Given the description of an element on the screen output the (x, y) to click on. 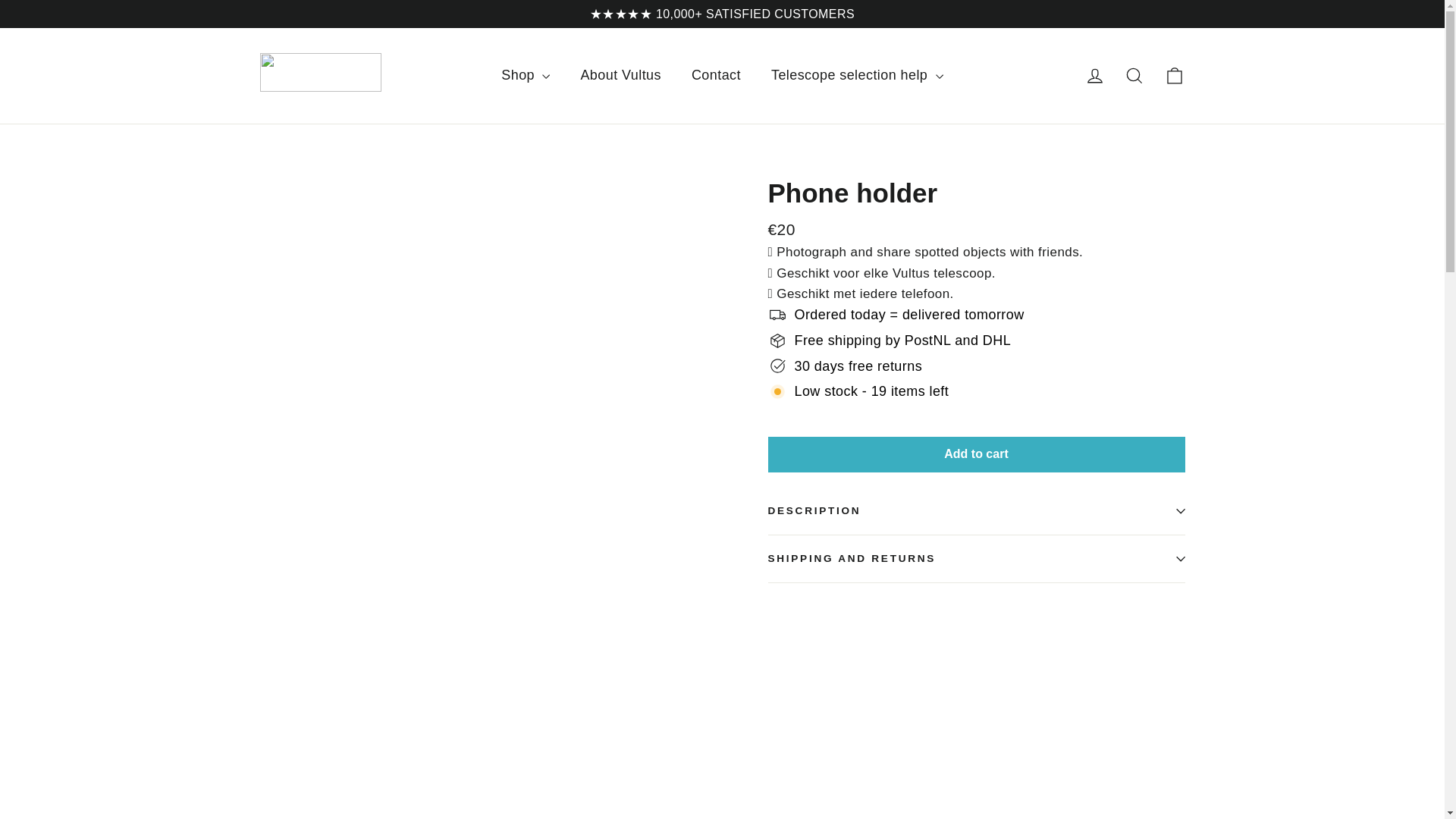
account (1094, 75)
DESCRIPTION (976, 510)
Add to cart (976, 454)
icon-bag-minimal (1174, 75)
icon-search (1095, 75)
SHIPPING AND RETURNS (1173, 75)
About Vultus (1134, 75)
